Given the description of an element on the screen output the (x, y) to click on. 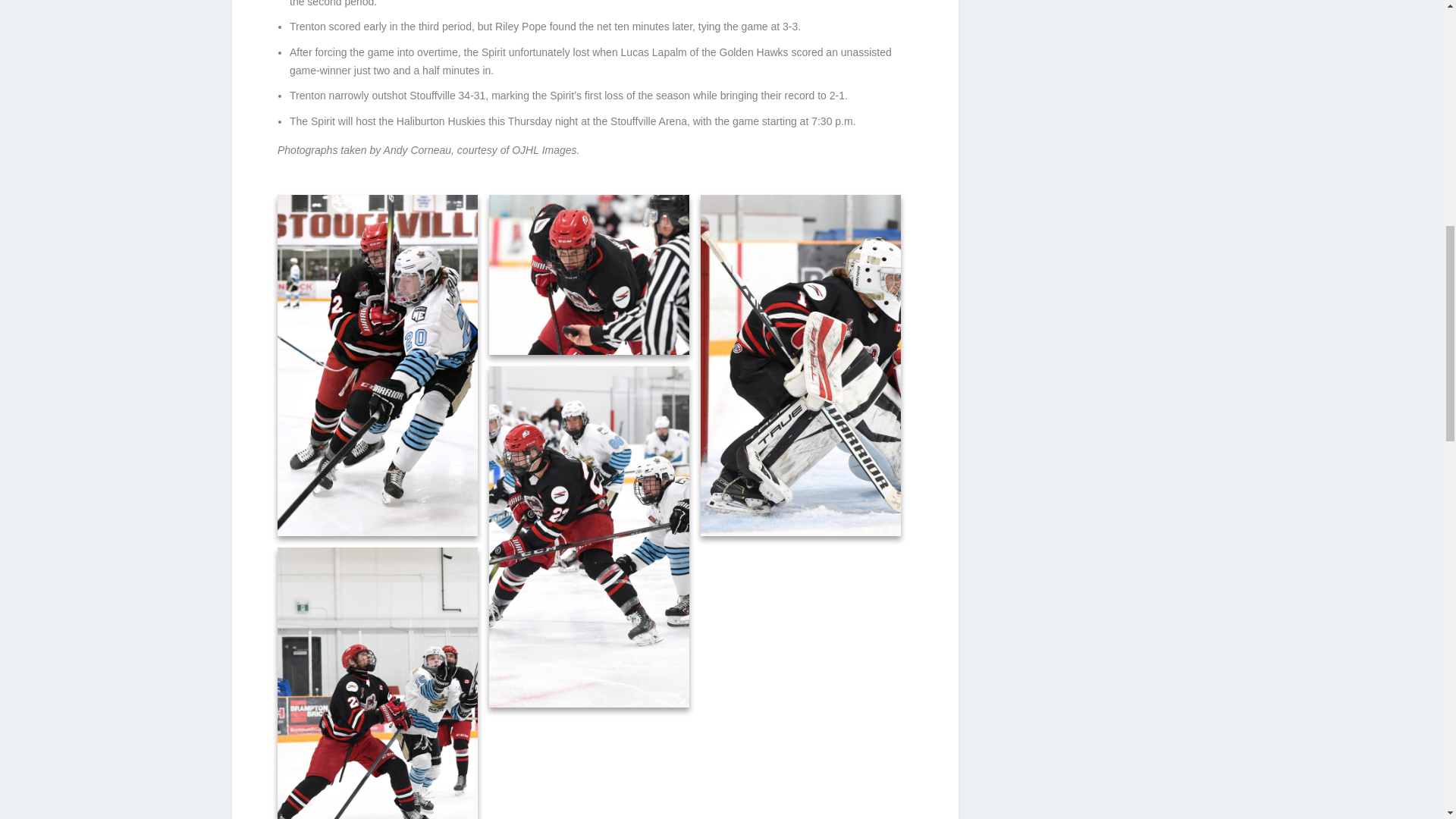
Trenton Golden Hawks vs Stouffville Spirit (588, 274)
Trenton Golden Hawks vs Stouffville Spirit (588, 273)
